Given the description of an element on the screen output the (x, y) to click on. 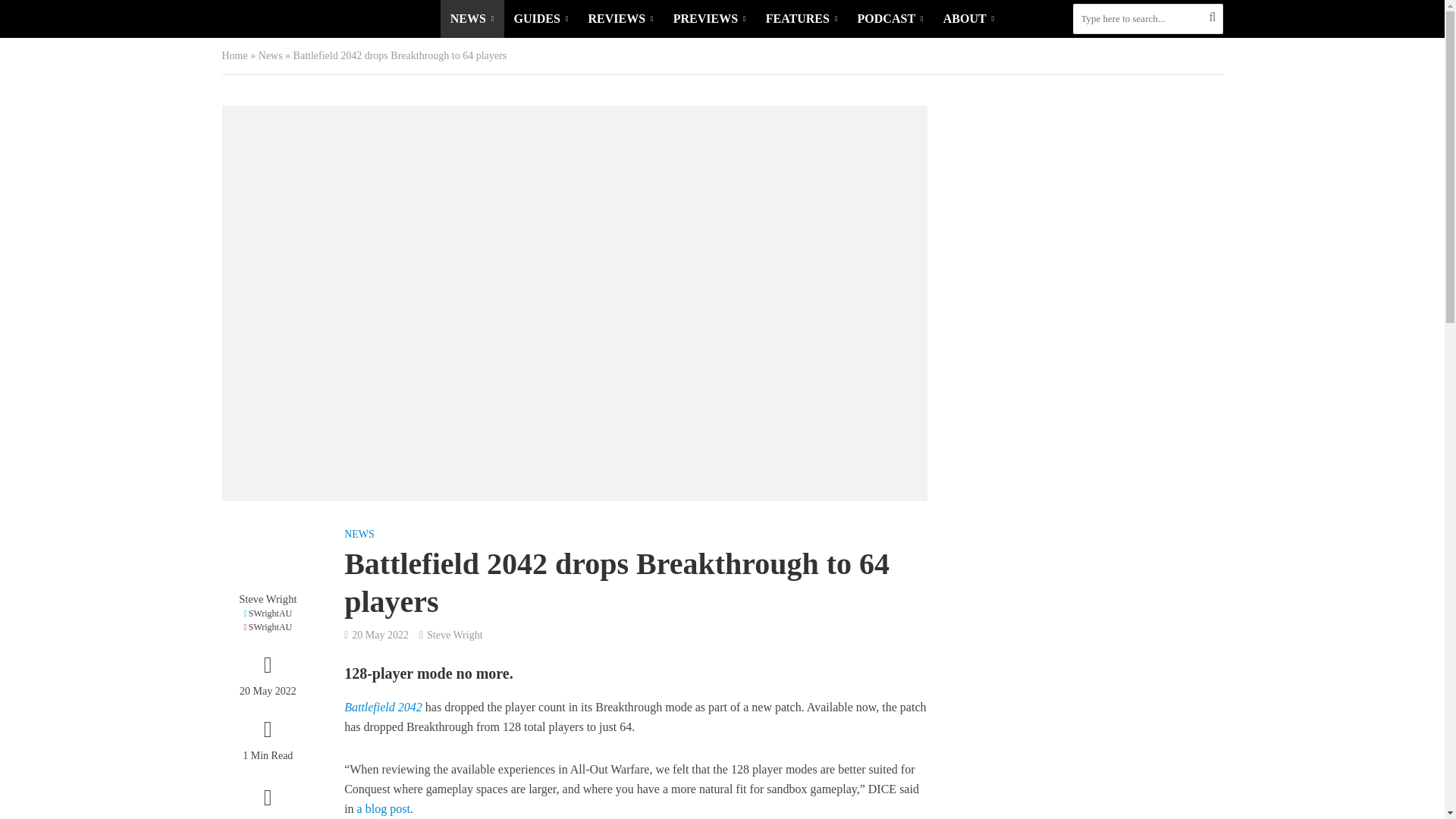
REVIEWS (620, 18)
GUIDES (540, 18)
NEWS (472, 18)
